Given the description of an element on the screen output the (x, y) to click on. 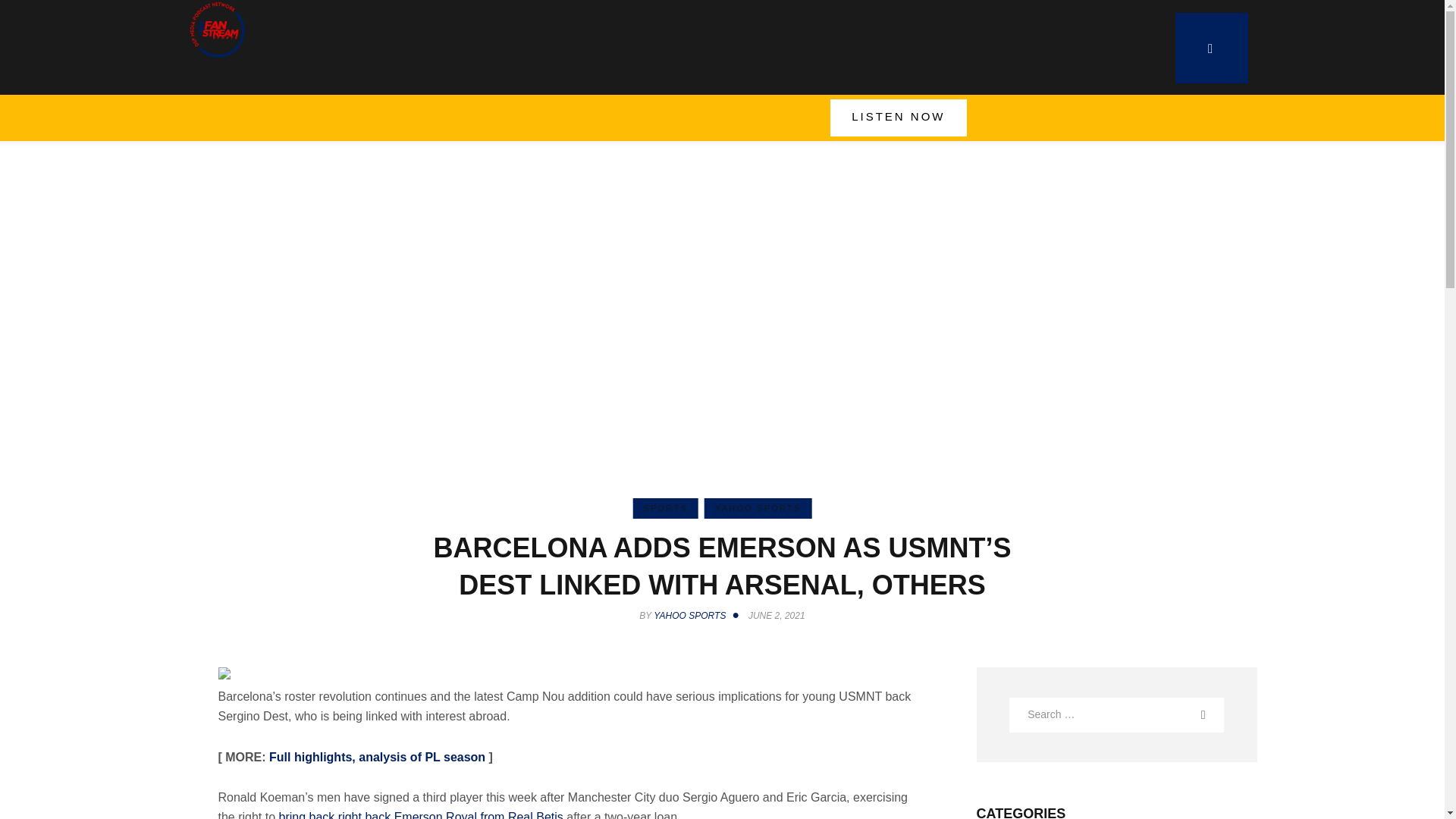
YAHOO SPORTS (757, 507)
SPORTS (664, 507)
LISTEN NOW (897, 117)
BY YAHOO SPORTS (692, 615)
